Given the description of an element on the screen output the (x, y) to click on. 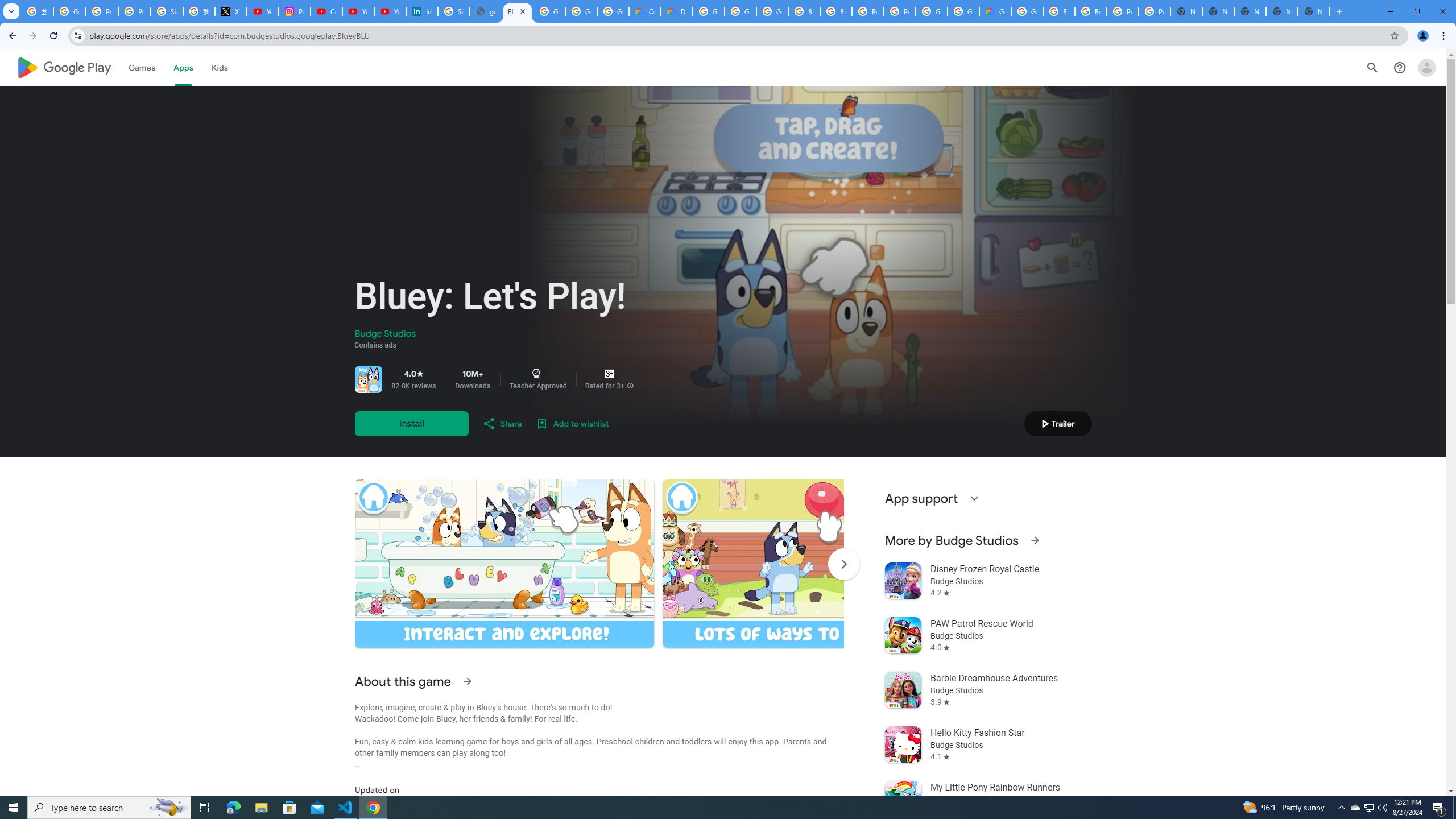
Privacy Help Center - Policies Help (101, 11)
Sign in - Google Accounts (166, 11)
Budge Studios (384, 333)
Google Cloud Platform (1027, 11)
Google Play logo (64, 67)
Browse Chrome as a guest - Computer - Google Chrome Help (1059, 11)
Customer Care | Google Cloud (644, 11)
Kids (219, 67)
Share (502, 422)
See more information on About this game (466, 681)
